Given the description of an element on the screen output the (x, y) to click on. 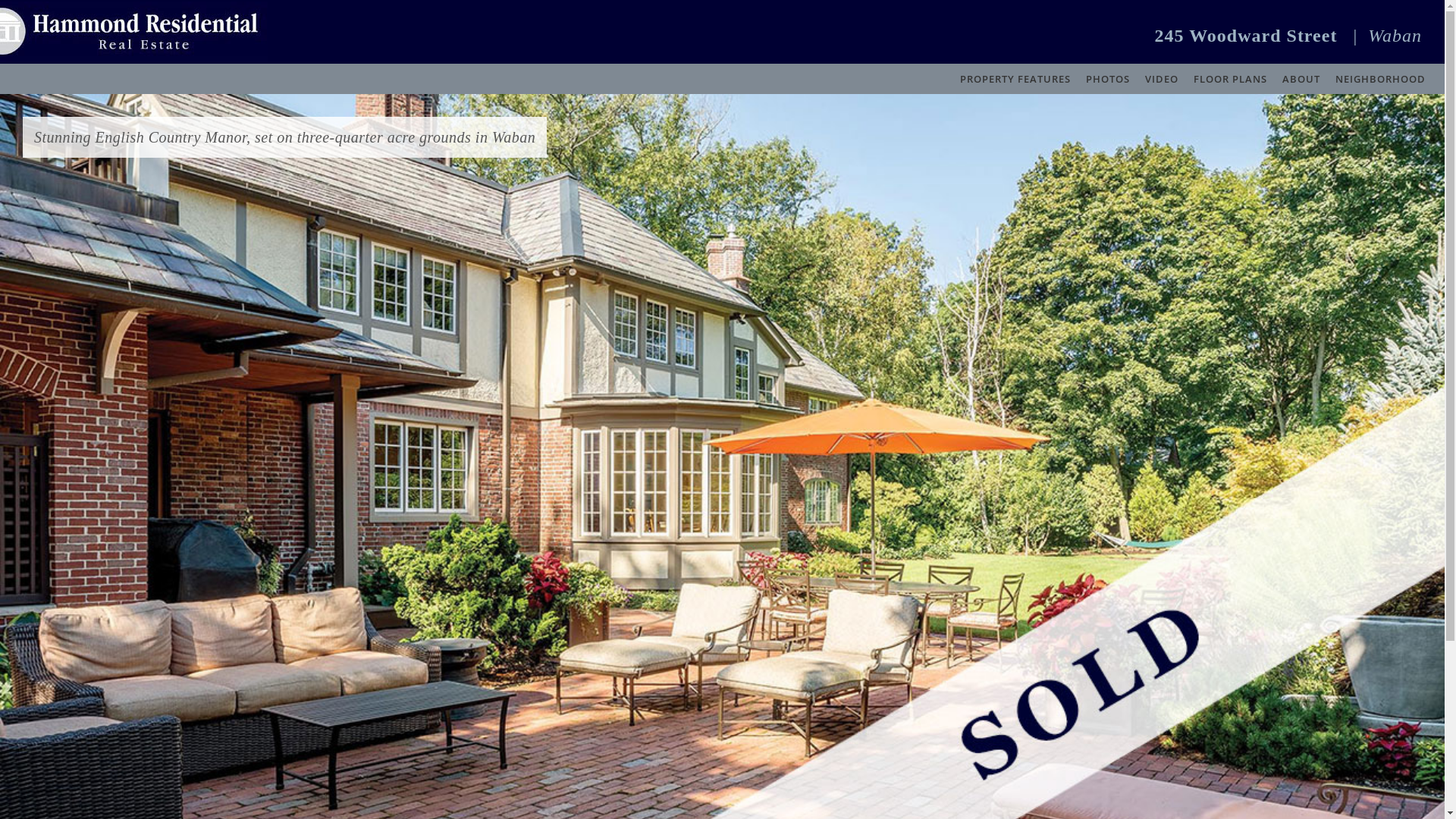
ABOUT Element type: text (1300, 78)
VIDEO Element type: text (1161, 78)
PROPERTY FEATURES Element type: text (1015, 78)
NEIGHBORHOOD Element type: text (1380, 78)
FLOOR PLANS Element type: text (1230, 78)
245 Woodward Street   |  Waban Element type: text (1287, 35)
PHOTOS Element type: text (1107, 78)
